Given the description of an element on the screen output the (x, y) to click on. 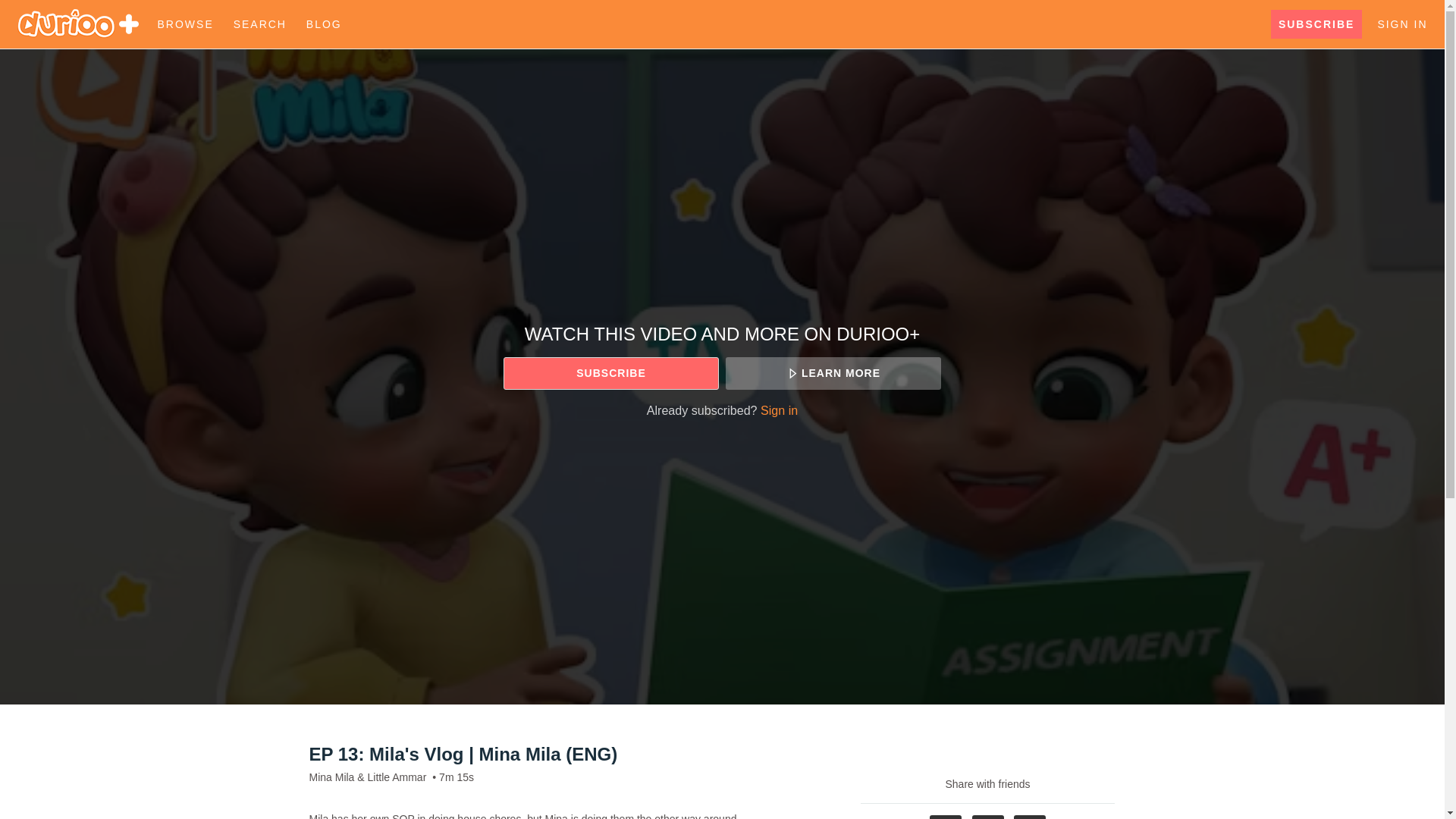
SUBSCRIBE (1316, 23)
SIGN IN (1401, 24)
Twitter (988, 816)
SEARCH (261, 24)
SUBSCRIBE (610, 373)
Email (1029, 816)
Facebook (945, 816)
BLOG (323, 24)
LEARN MORE (832, 373)
Sign in (778, 409)
Skip to main content (48, 7)
BROWSE (187, 24)
